Given the description of an element on the screen output the (x, y) to click on. 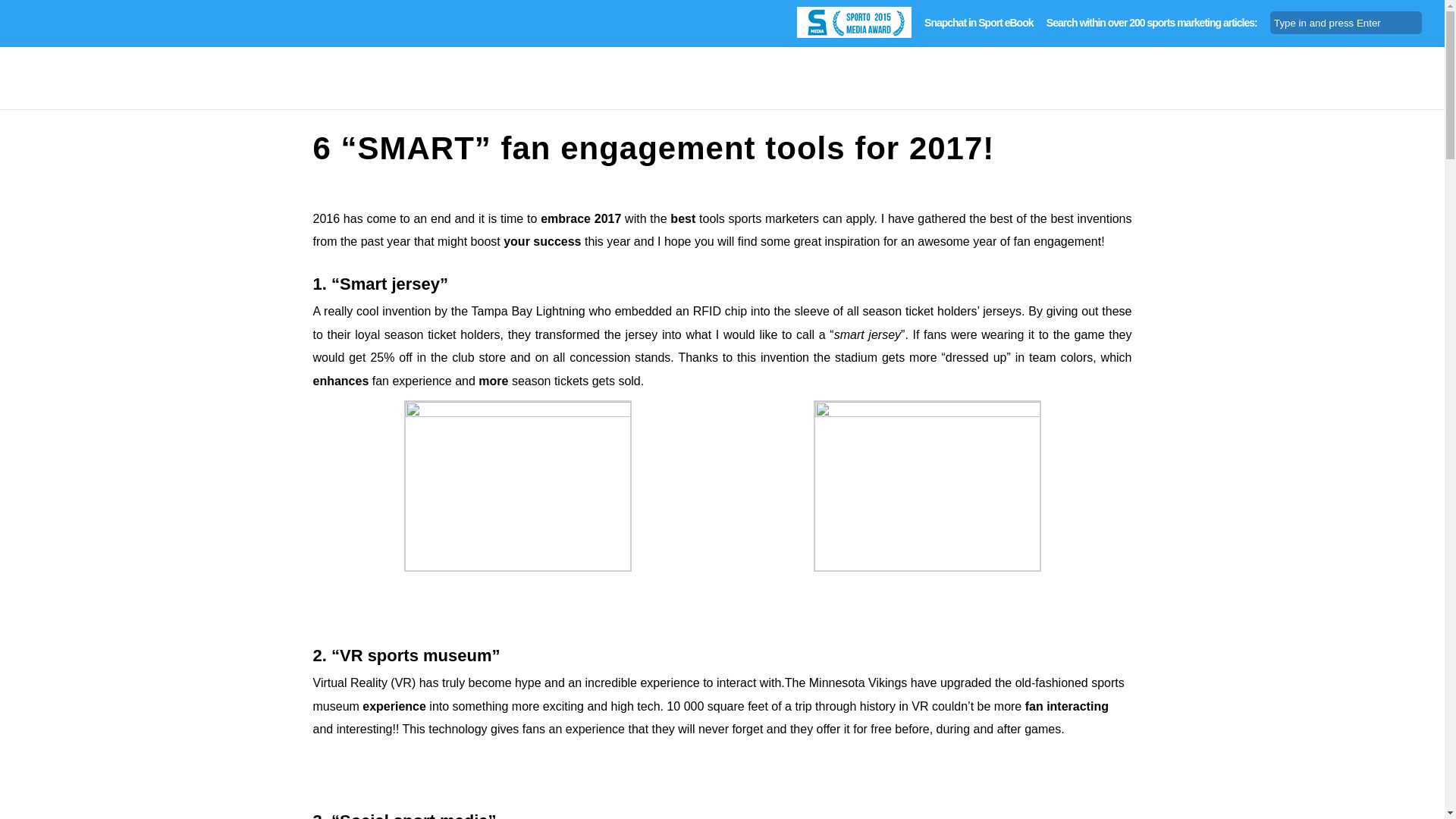
Contact (1400, 90)
Search within over 200 sports marketing articles: (1151, 27)
Our focus (1177, 90)
Snapchat in Sport eBook (978, 27)
About us (1334, 90)
Road to Success (1083, 90)
